Given the description of an element on the screen output the (x, y) to click on. 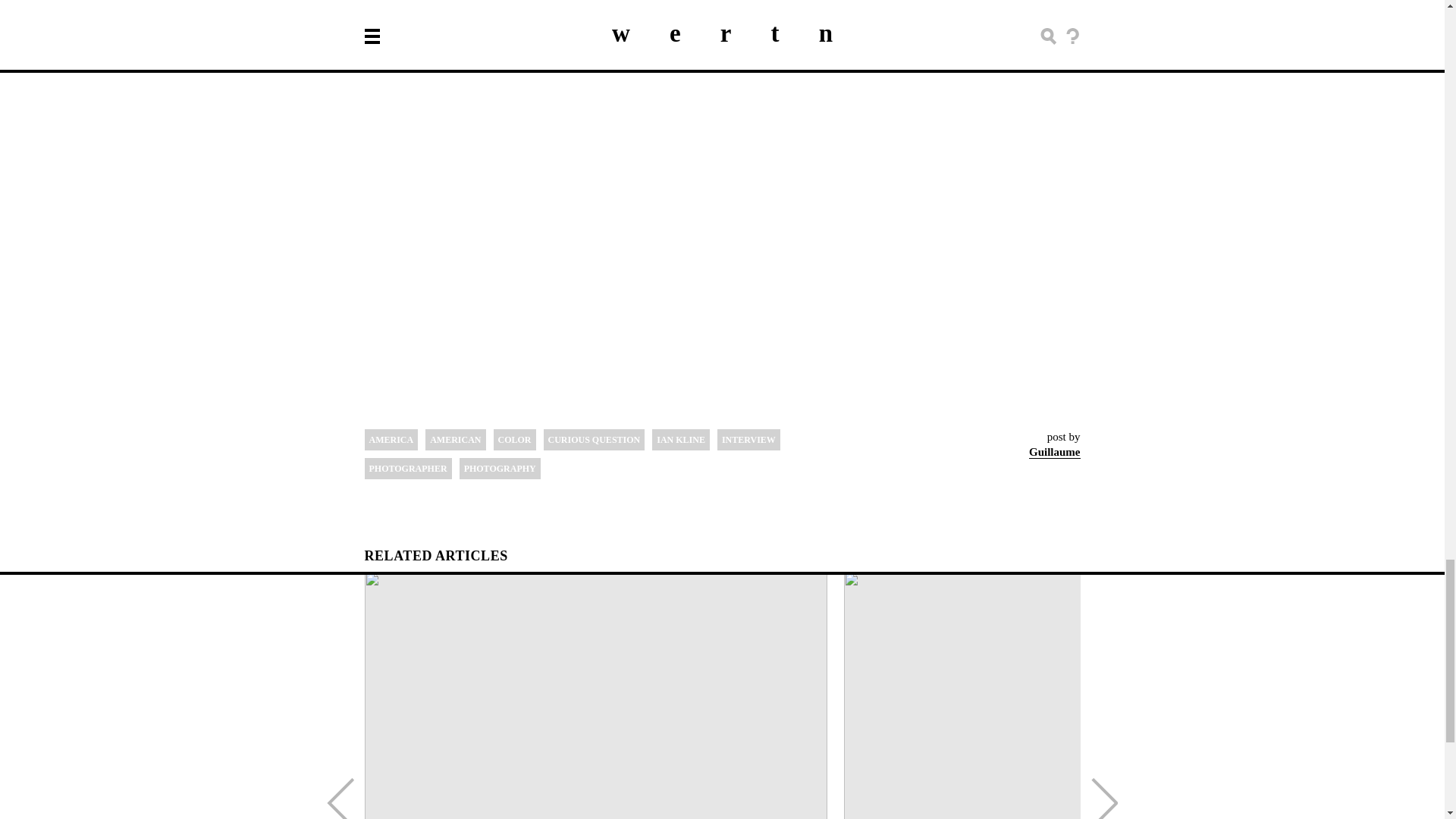
PHOTOGRAPHY (500, 468)
AMERICAN (454, 439)
INTERVIEW (748, 439)
CURIOUS QUESTION (594, 439)
COLOR (514, 439)
AMERICA (390, 439)
IAN KLINE (681, 439)
Guillaume (1054, 451)
PHOTOGRAPHER (407, 468)
